Given the description of an element on the screen output the (x, y) to click on. 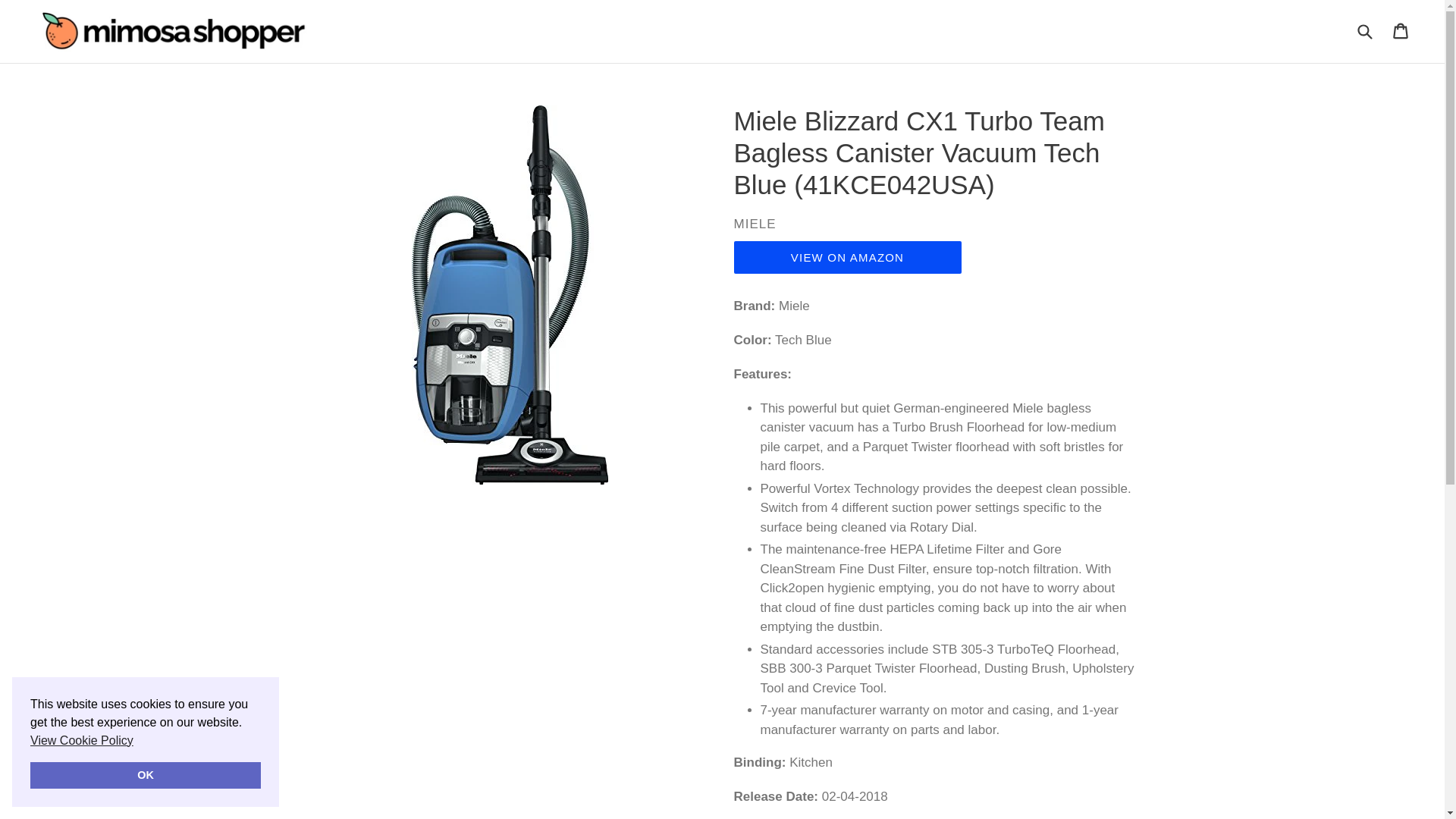
OK (145, 774)
View Cookie Policy (81, 740)
VIEW ON AMAZON (846, 256)
